Given the description of an element on the screen output the (x, y) to click on. 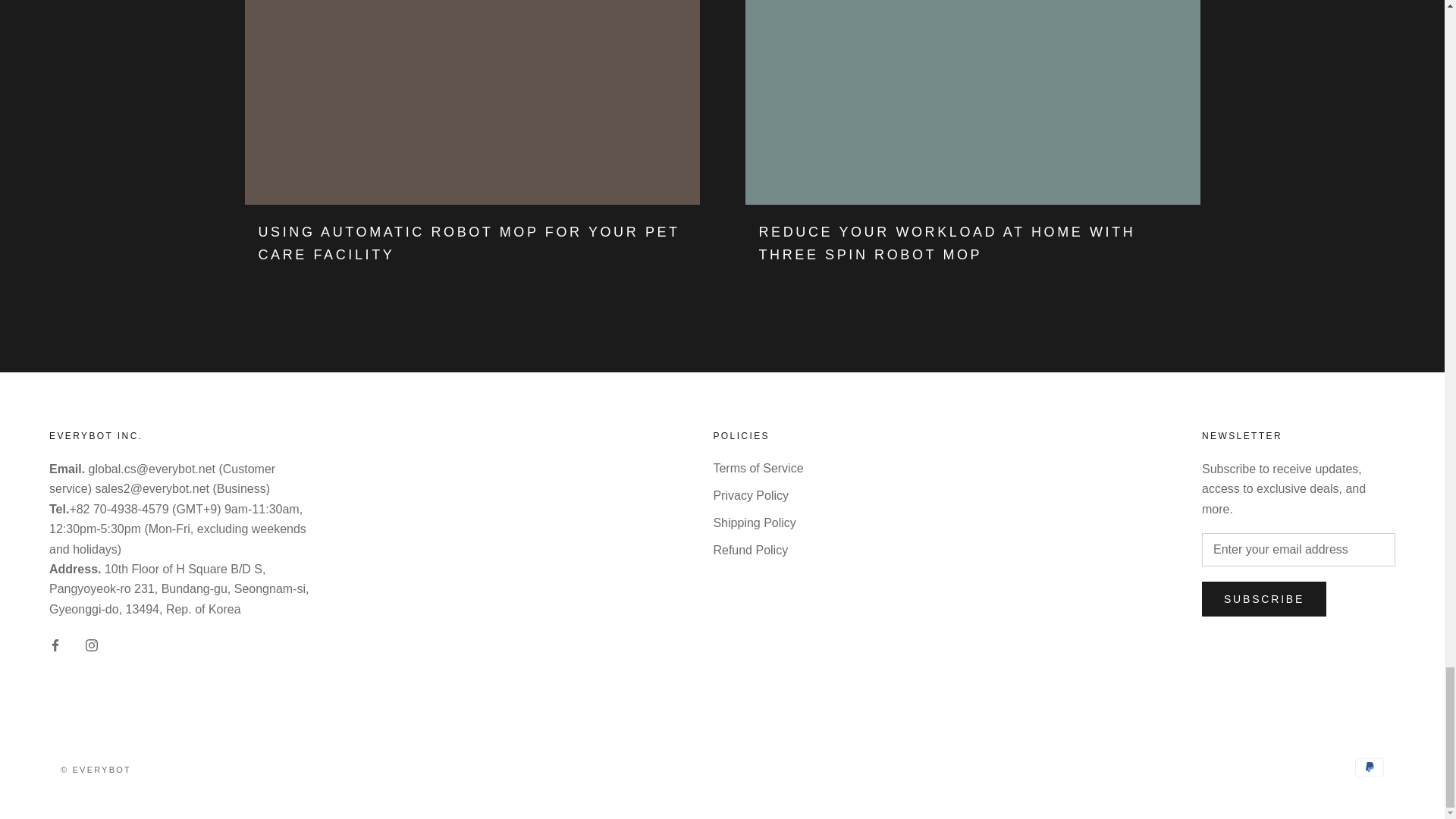
PayPal (1369, 767)
